Given the description of an element on the screen output the (x, y) to click on. 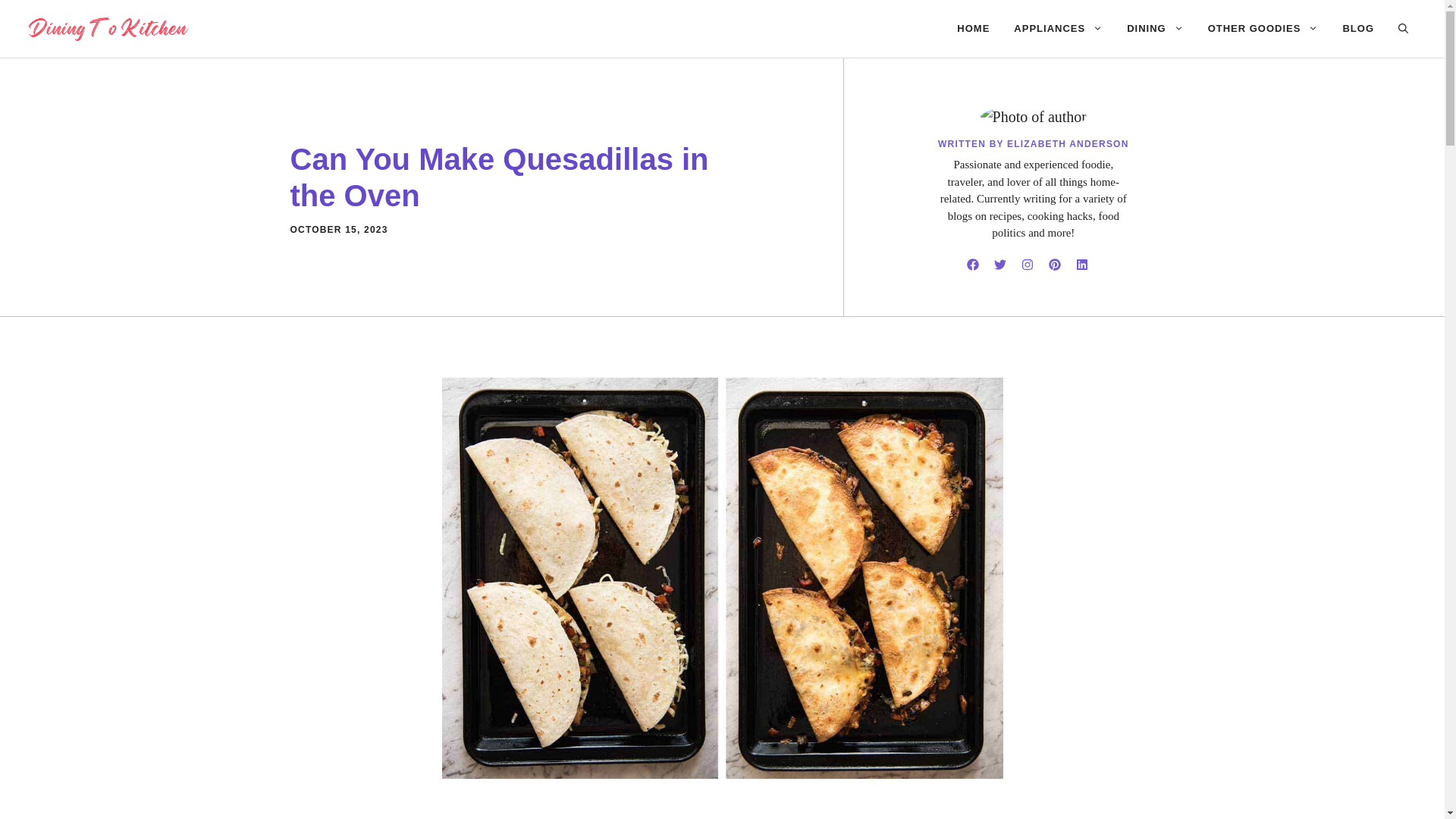
DINING (1155, 28)
BLOG (1358, 28)
OTHER GOODIES (1262, 28)
APPLIANCES (1058, 28)
HOME (972, 28)
